Given the description of an element on the screen output the (x, y) to click on. 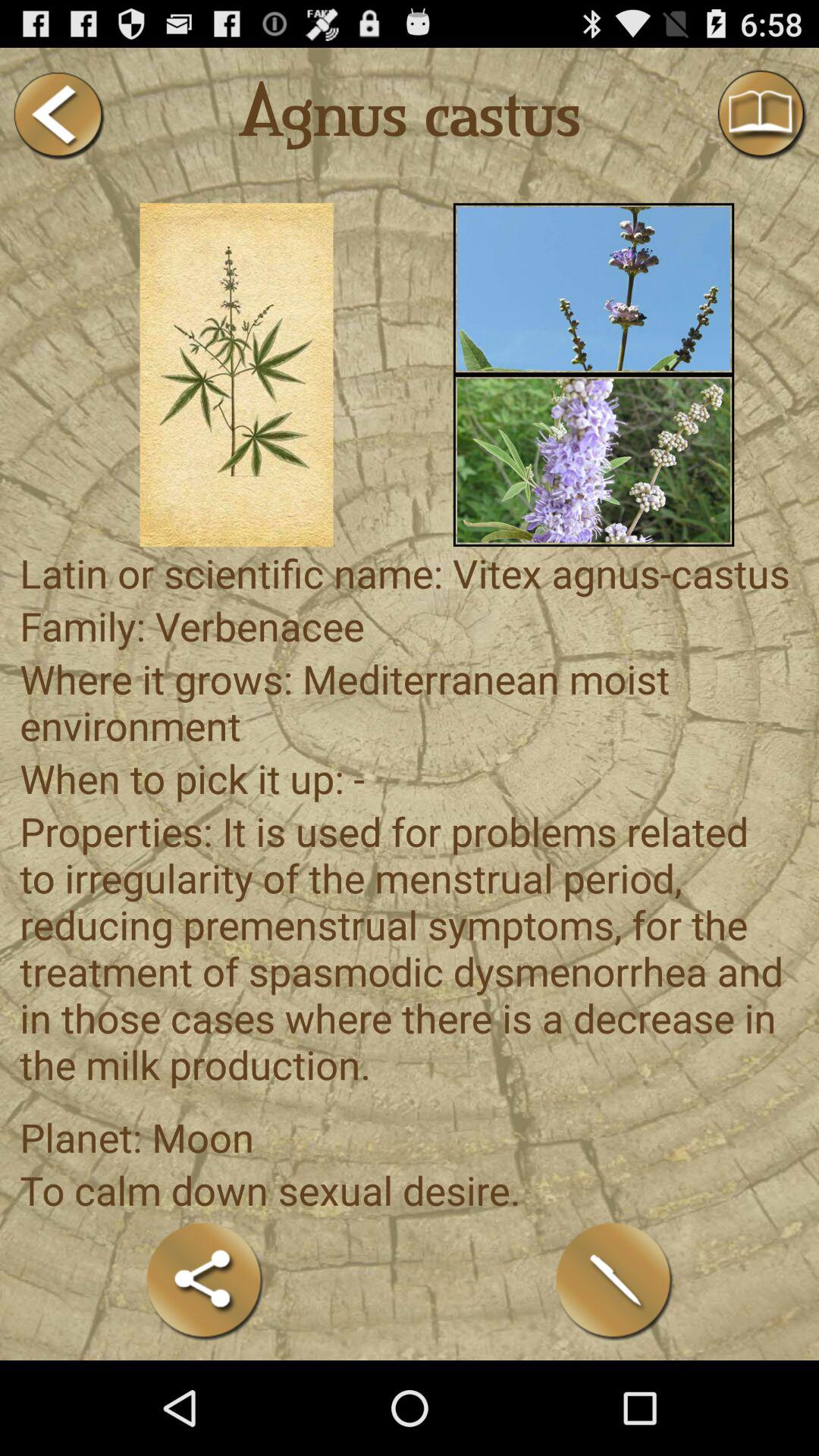
selects picture (593, 460)
